Given the description of an element on the screen output the (x, y) to click on. 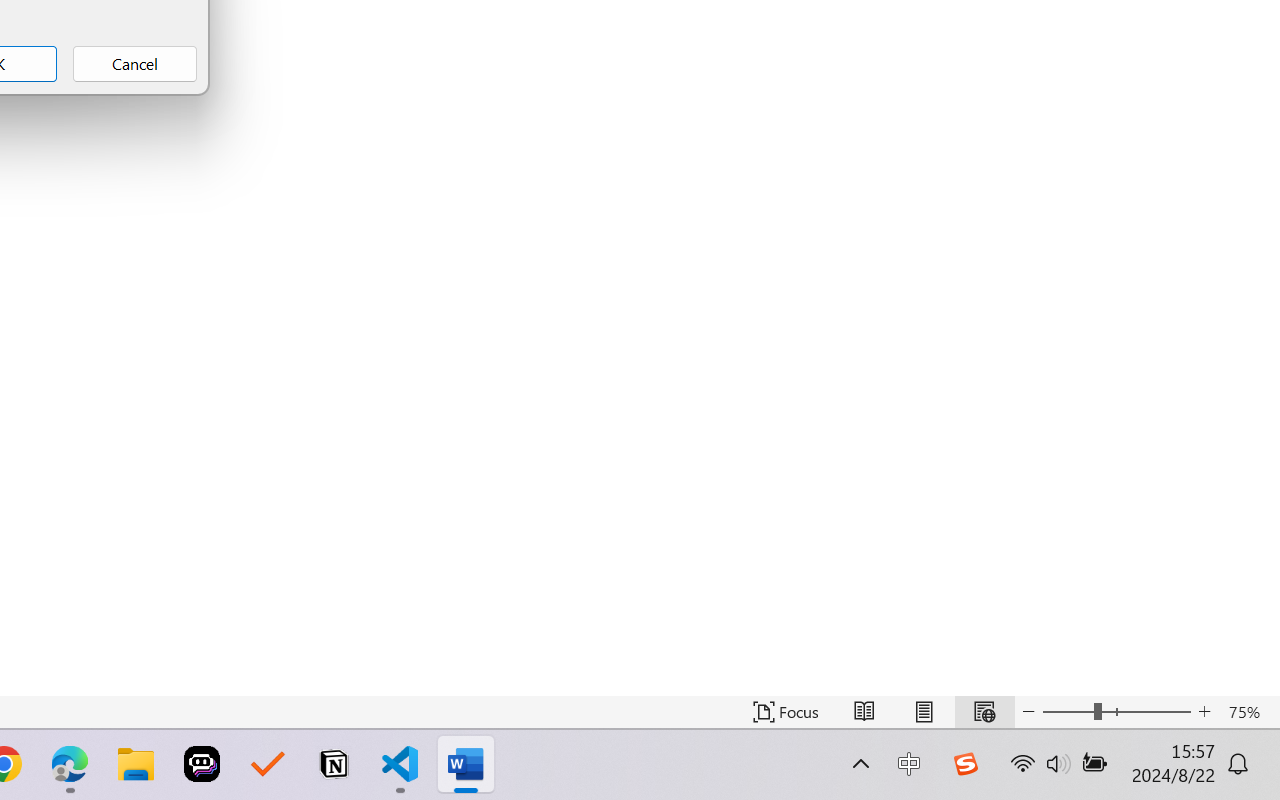
Zoom Out (1067, 712)
Read Mode (864, 712)
Zoom In (1204, 712)
Print Layout (924, 712)
Focus  (786, 712)
Cancel (134, 63)
